Given the description of an element on the screen output the (x, y) to click on. 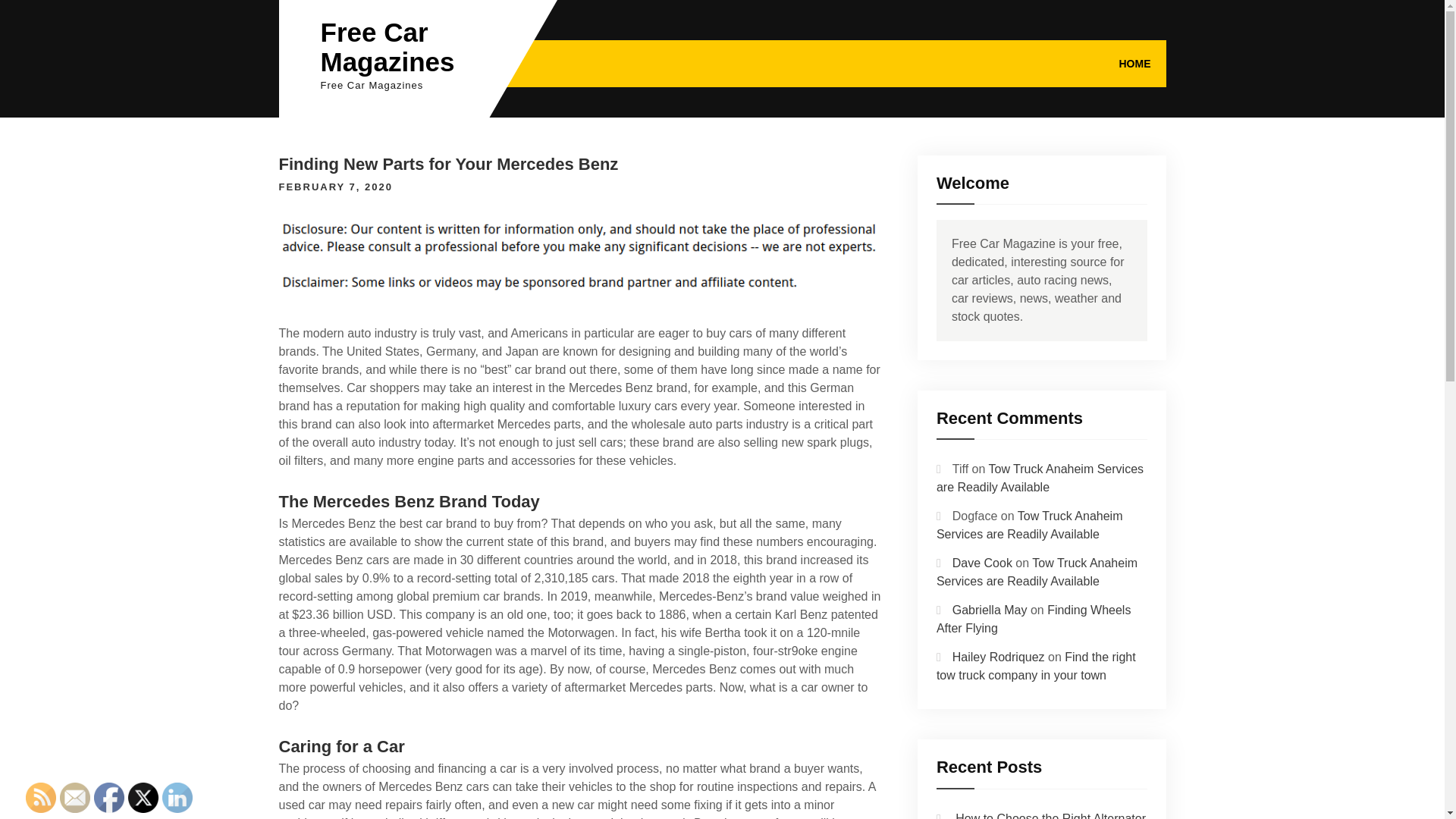
How to Choose the Right Alternator (1050, 815)
Tow Truck Anaheim Services are Readily Available (1039, 477)
Free Car Magazines (387, 46)
Hailey Rodriquez (998, 656)
Follow by Email (74, 797)
HOME (1134, 63)
Find the right tow truck company in your town (1035, 665)
Gabriella May (989, 609)
Twitter (143, 797)
Facebook (108, 797)
